Given the description of an element on the screen output the (x, y) to click on. 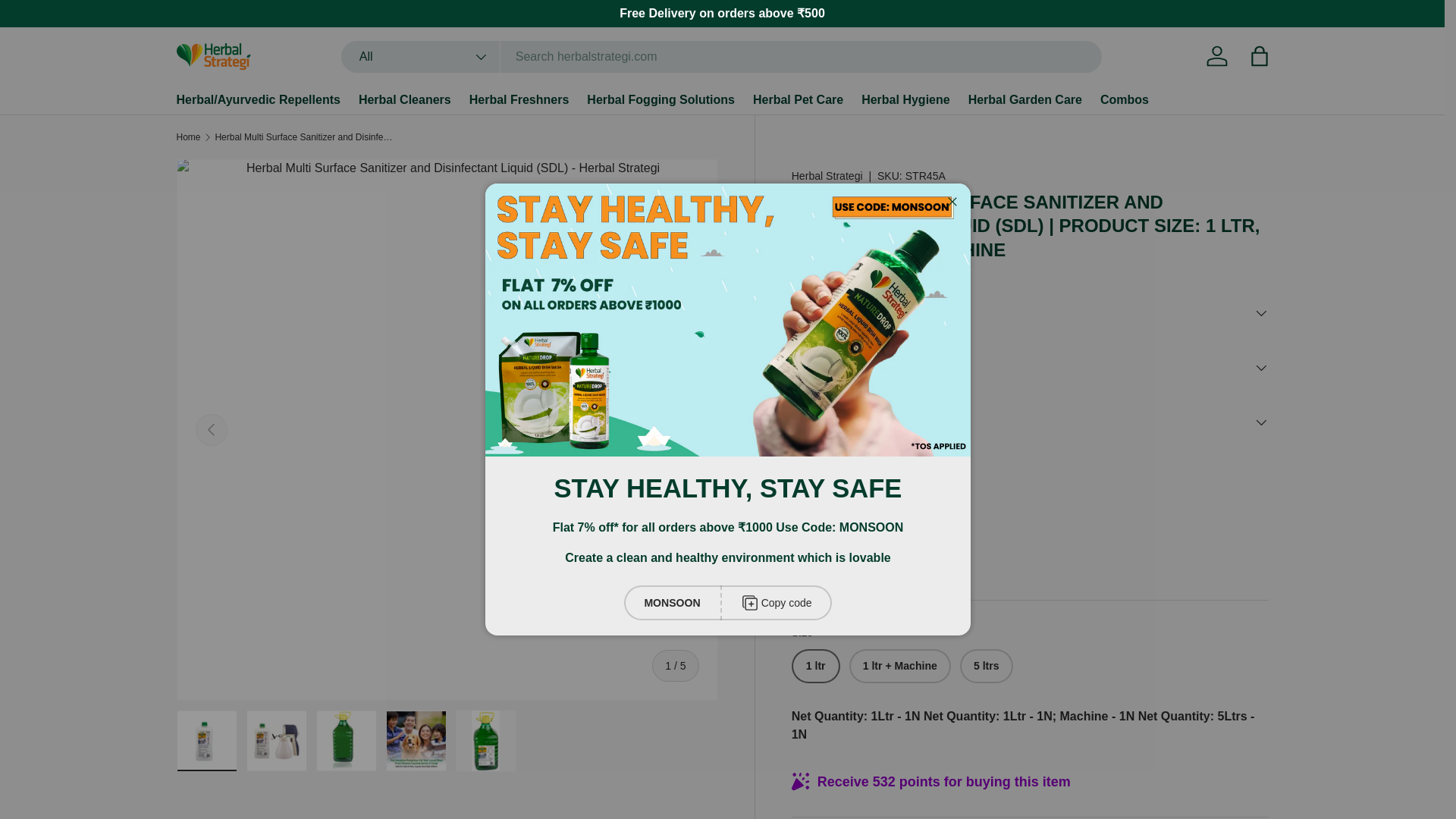
Herbal Pet Care (797, 99)
Herbal Hygiene (905, 99)
Load image 1 in gallery view (205, 741)
Load image 3 in gallery view (345, 741)
Herbal Cleaners (404, 99)
All (420, 56)
Herbal Garden Care (1024, 99)
Herbal Freshners (518, 99)
Previous (211, 429)
Combos (1124, 99)
Herbal Fogging Solutions (660, 99)
Shipping (812, 550)
Load image 5 in gallery view (484, 741)
Bag (1258, 55)
